Given the description of an element on the screen output the (x, y) to click on. 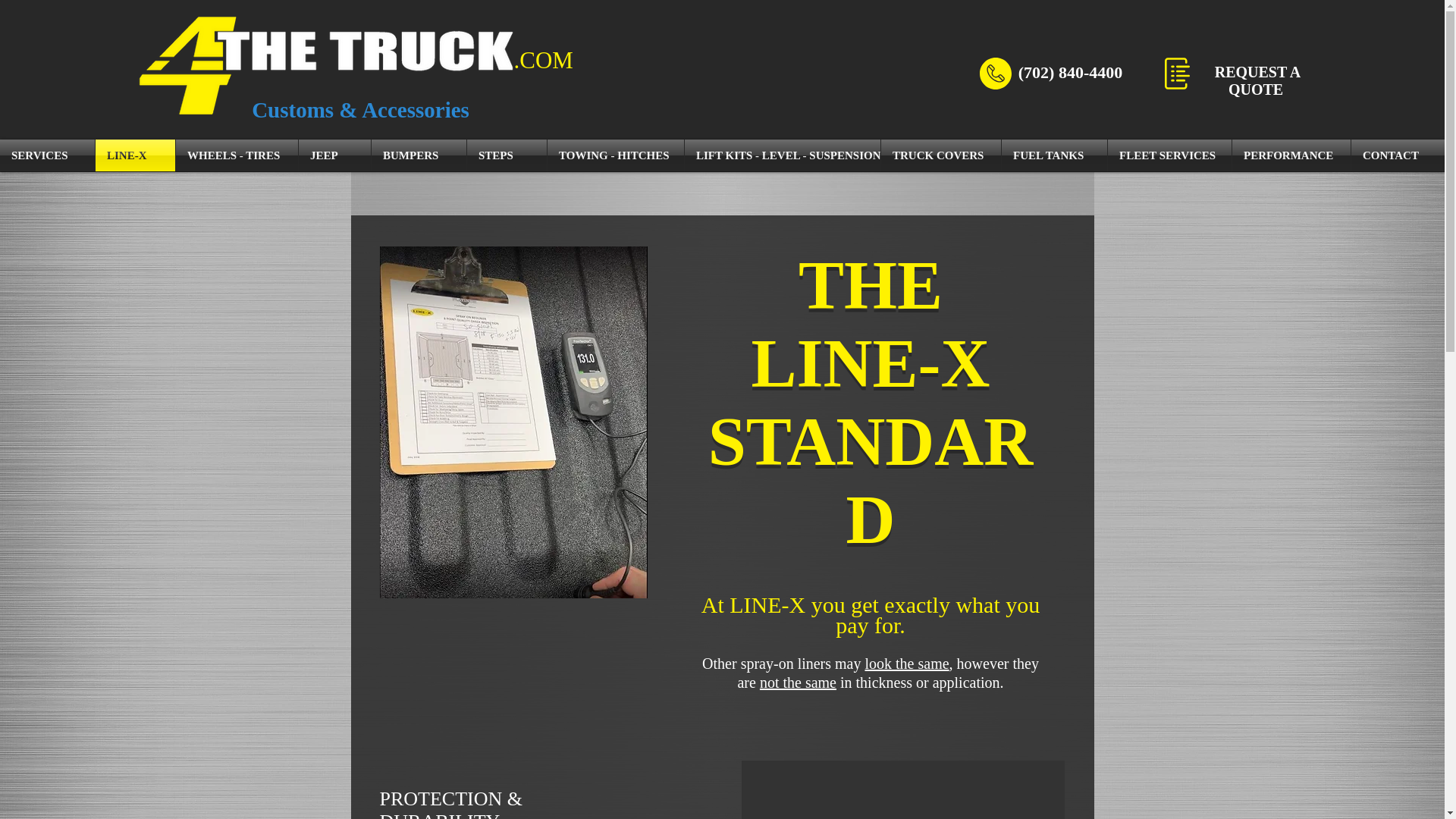
JEEP (334, 155)
LIFT KITS - LEVEL - SUSPENSION (782, 155)
LINE-X (135, 155)
WHEELS - TIRES (237, 155)
FLEET SERVICES (1169, 155)
SERVICES (47, 155)
BUMPERS (418, 155)
FUEL TANKS (1053, 155)
TRUCK COVERS (940, 155)
STEPS (507, 155)
